Given the description of an element on the screen output the (x, y) to click on. 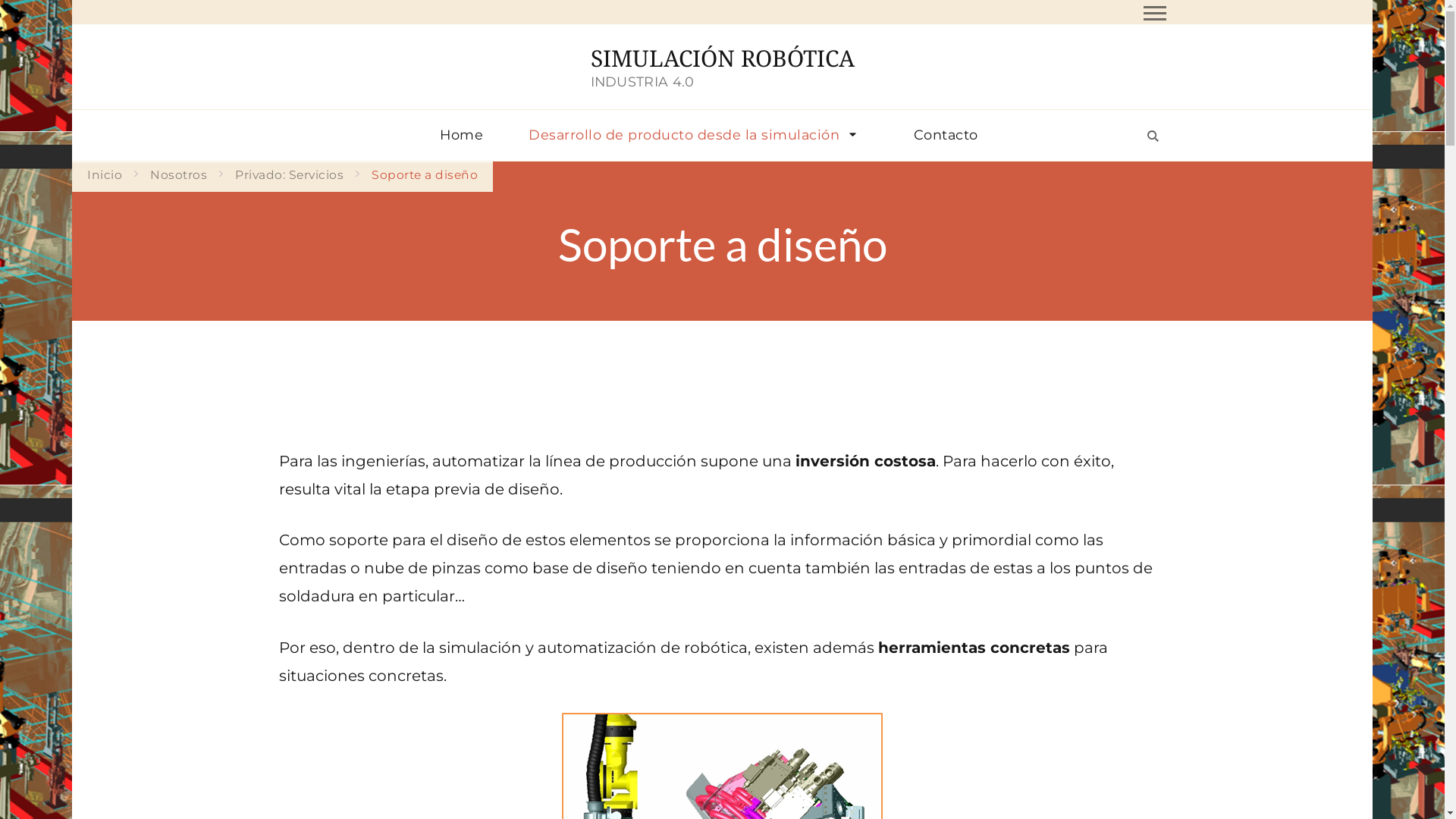
Inicio Element type: text (104, 174)
Nosotros Element type: text (178, 174)
Home Element type: text (461, 135)
Privado: Servicios Element type: text (289, 174)
Contacto Element type: text (946, 135)
